Given the description of an element on the screen output the (x, y) to click on. 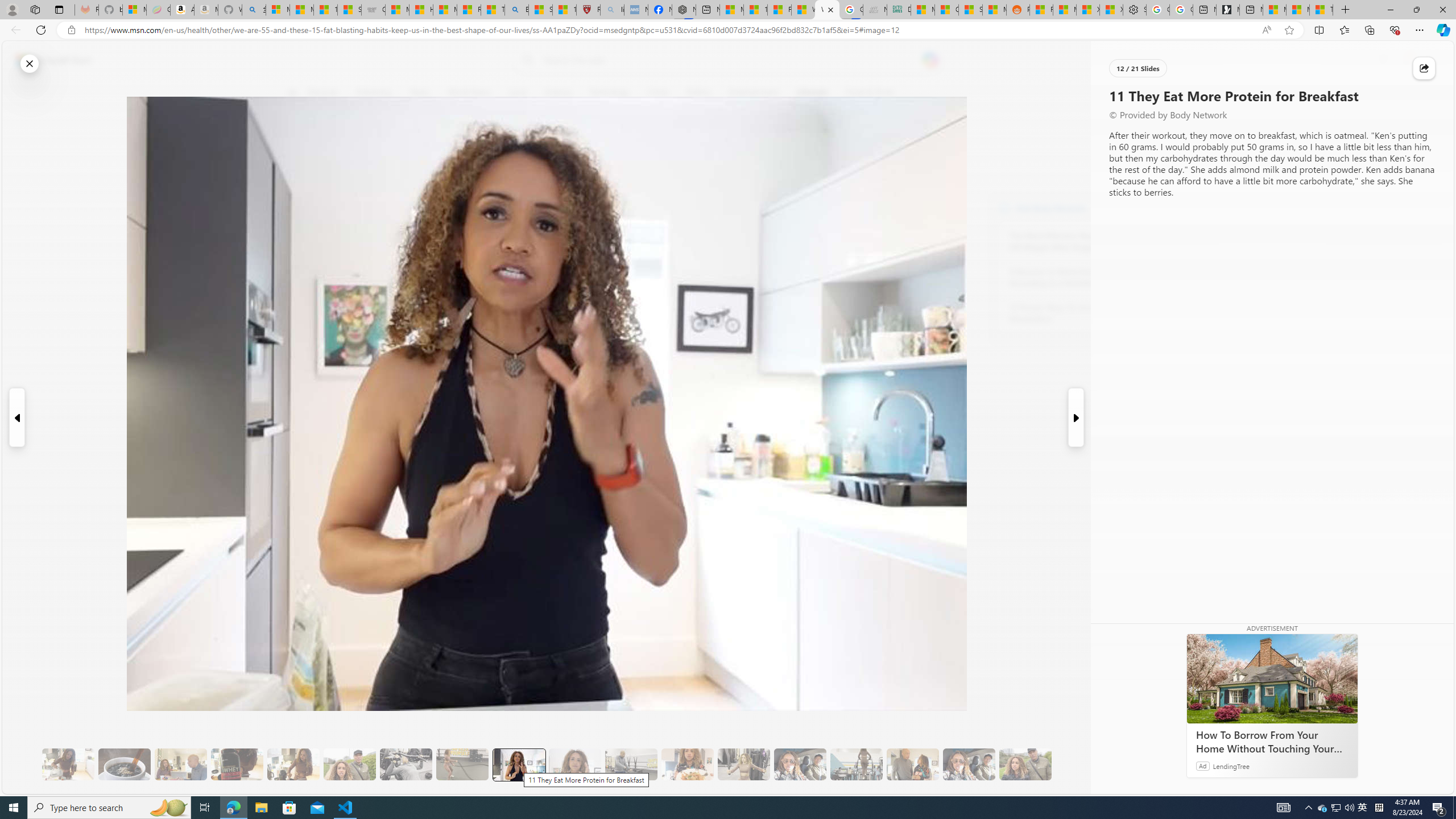
12 Popular Science Lies that Must be Corrected (563, 9)
Previous Slide (16, 417)
Class: at-item (299, 266)
11 They Eat More Protein for Breakfast (518, 764)
